Given the description of an element on the screen output the (x, y) to click on. 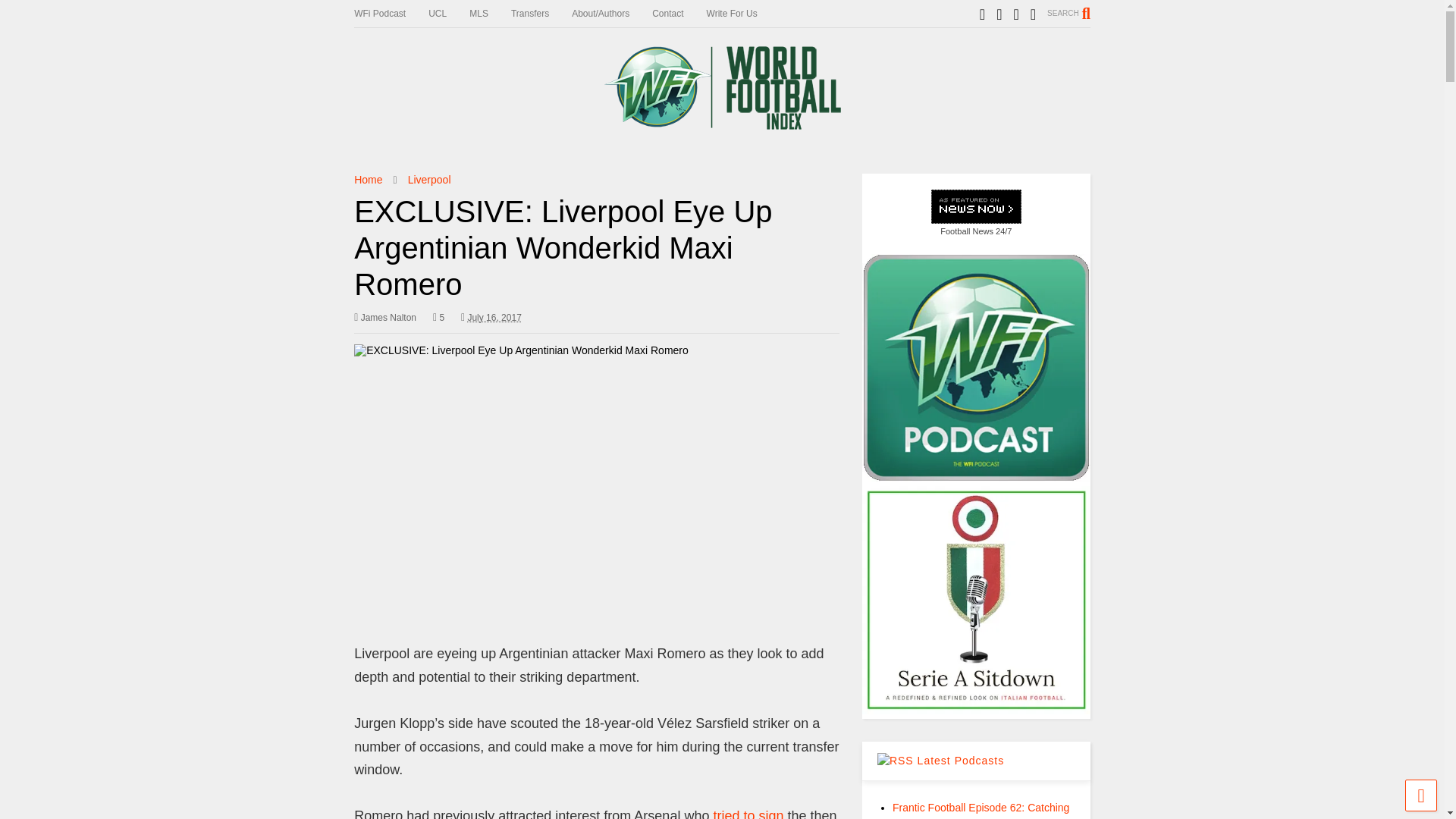
World Football Index (721, 123)
Write For Us (743, 13)
MLS (489, 13)
SEARCH (1068, 13)
Home (367, 179)
Click here for more Football news from NewsNow (976, 213)
UCL (448, 13)
tried to sign (748, 813)
James Nalton (384, 317)
WFi Podcast (390, 13)
